Given the description of an element on the screen output the (x, y) to click on. 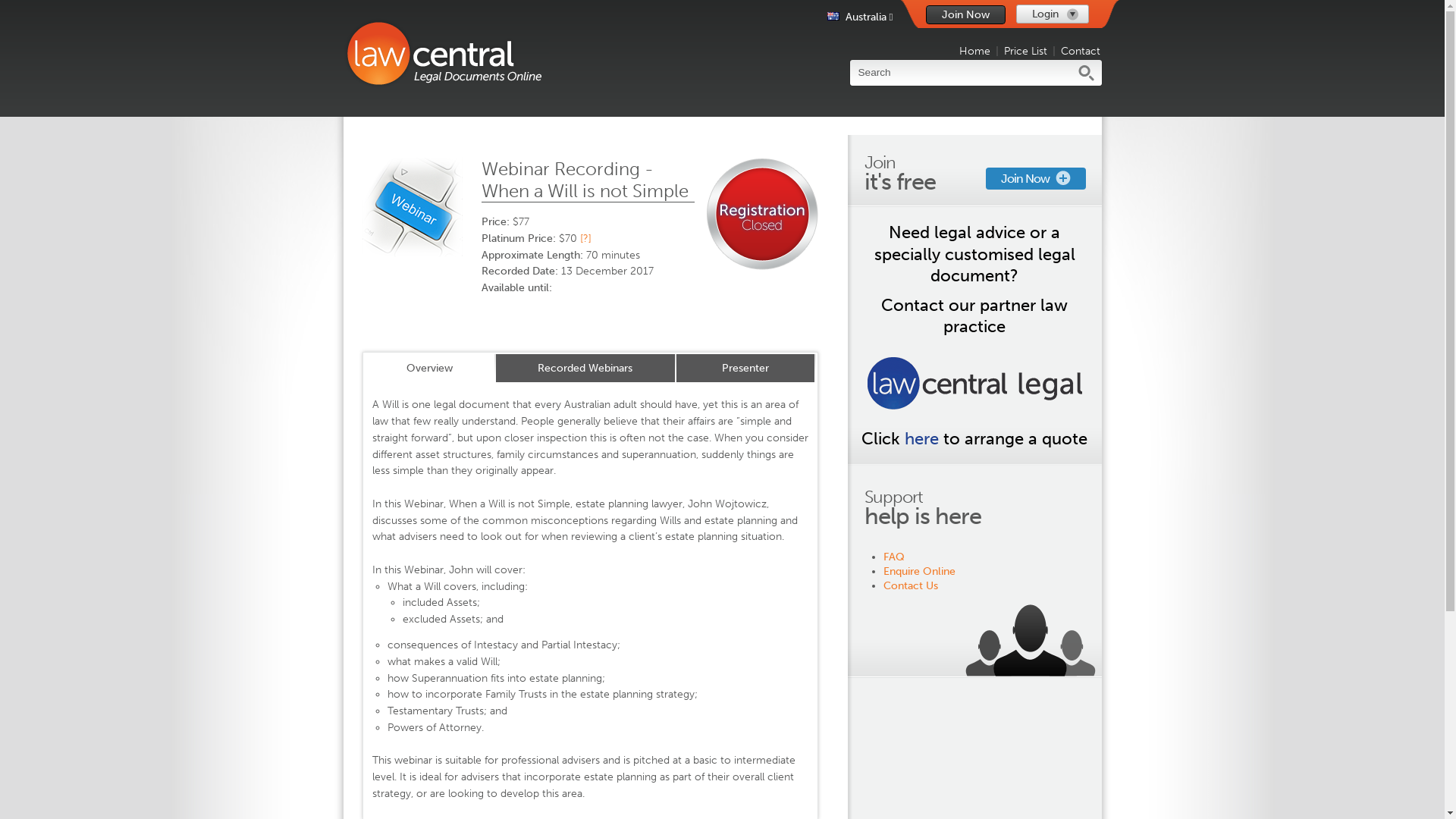
Price List Element type: text (1024, 50)
Presenter Element type: text (745, 368)
FAQ Element type: text (893, 556)
Enquire Online Element type: text (919, 570)
Contact Us Element type: text (910, 585)
Join Now Element type: text (1035, 178)
Overview Element type: text (429, 368)
Recorded Webinars Element type: text (584, 368)
[?] Element type: text (584, 238)
here Element type: text (921, 438)
Join Now Element type: text (964, 14)
Home Element type: text (974, 50)
Contact Element type: text (1080, 50)
Login Element type: text (1052, 13)
Search Element type: hover (960, 71)
  Element type: text (762, 221)
